Given the description of an element on the screen output the (x, y) to click on. 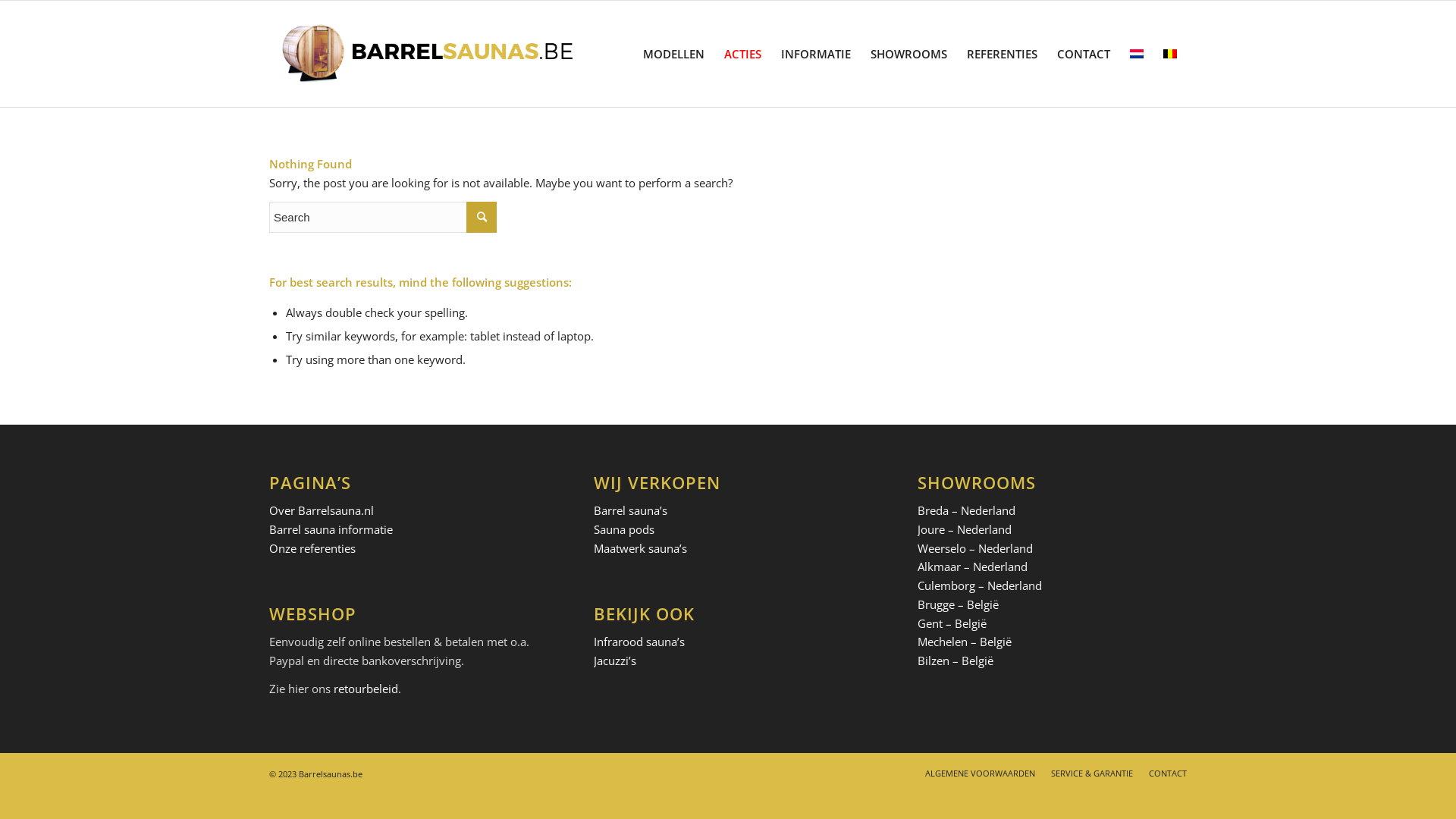
Over Barrelsauna.nl Element type: text (321, 509)
SERVICE & GARANTIE Element type: text (1091, 772)
Barrel sauna informatie Element type: text (330, 528)
REFERENTIES Element type: text (1002, 53)
Onze referenties Element type: text (312, 547)
Nederlands Element type: hover (1136, 53)
retourbeleid Element type: text (365, 688)
Vlaams Element type: hover (1169, 53)
ALGEMENE VOORWAARDEN Element type: text (980, 772)
Sauna pods Element type: text (623, 528)
barrelsaunas.be Element type: hover (428, 53)
INFORMATIE Element type: text (815, 53)
MODELLEN Element type: text (673, 53)
CONTACT Element type: text (1083, 53)
ACTIES Element type: text (742, 53)
SHOWROOMS Element type: text (908, 53)
CONTACT Element type: text (1167, 772)
